Given the description of an element on the screen output the (x, y) to click on. 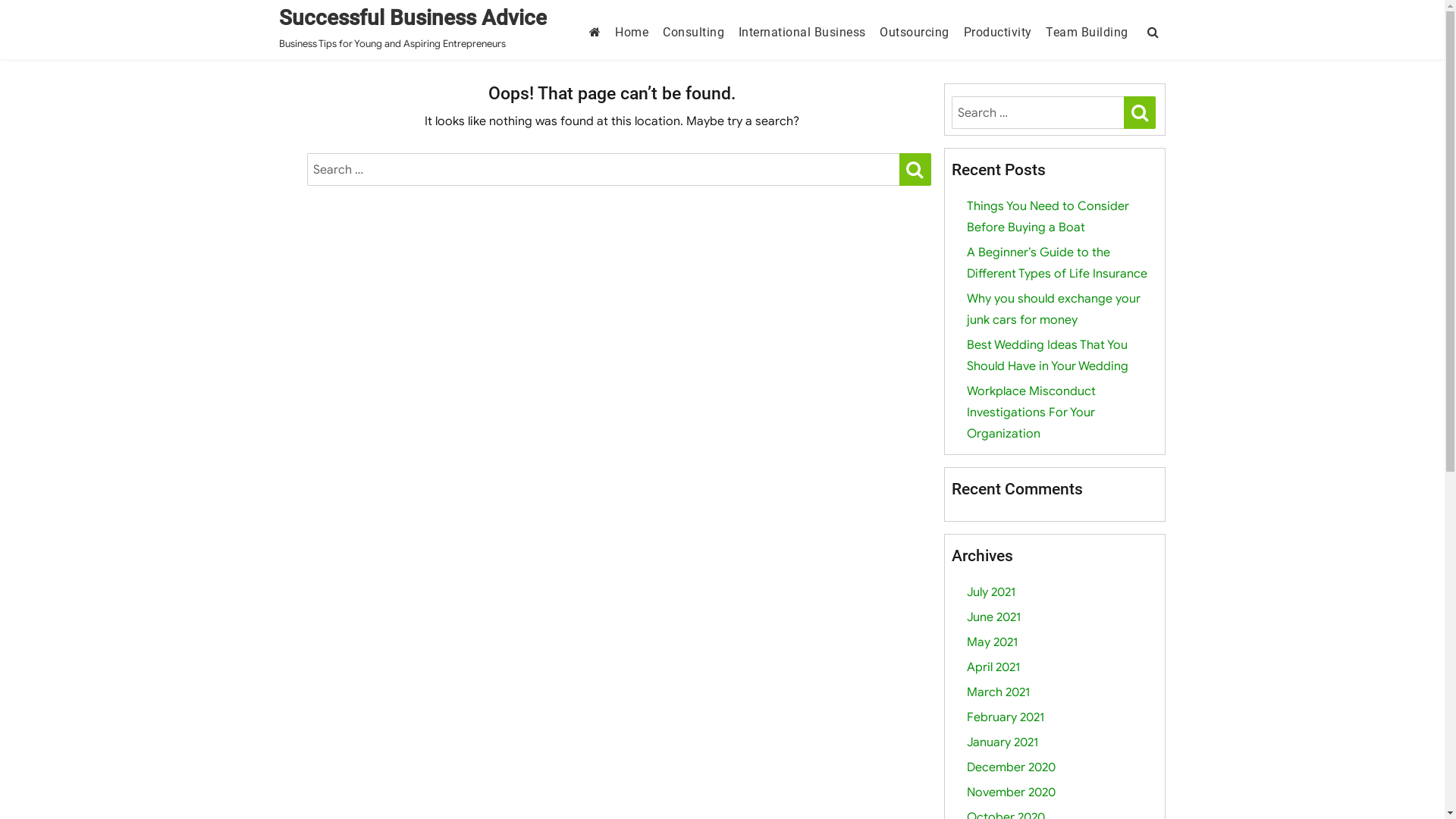
Workplace Misconduct Investigations For Your Organization Element type: text (1030, 412)
January 2021 Element type: text (1002, 741)
Things You Need to Consider Before Buying a Boat Element type: text (1047, 216)
February 2021 Element type: text (1005, 716)
November 2020 Element type: text (1010, 792)
Best Wedding Ideas That You Should Have in Your Wedding Element type: text (1047, 355)
July 2021 Element type: text (990, 591)
April 2021 Element type: text (992, 666)
March 2021 Element type: text (997, 691)
Outsourcing Element type: text (914, 31)
Home Element type: text (631, 31)
May 2021 Element type: text (991, 641)
Why you should exchange your junk cars for money Element type: text (1053, 309)
Productivity Element type: text (997, 31)
SEARCH Element type: text (915, 169)
SEARCH Element type: text (1139, 112)
International Business Element type: text (801, 31)
Team Building Element type: text (1086, 31)
Successful Business Advice Element type: text (412, 17)
June 2021 Element type: text (993, 616)
December 2020 Element type: text (1010, 767)
Consulting Element type: text (693, 31)
